Given the description of an element on the screen output the (x, y) to click on. 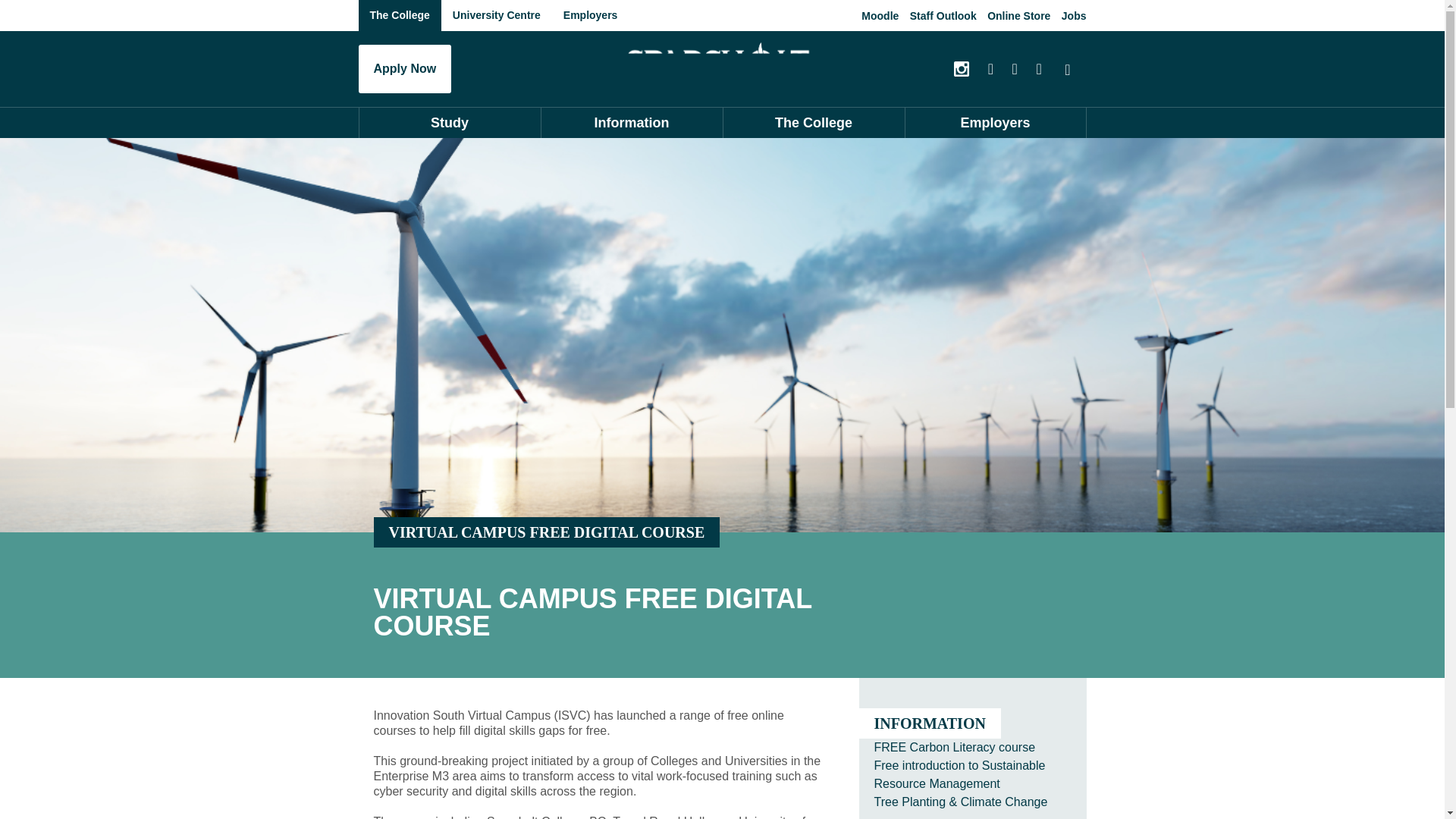
Moodle (879, 15)
Apply Now (404, 69)
Sparsholt College Hampshire (721, 65)
Sparsholt College Logo (721, 65)
The College (399, 15)
University Centre (496, 15)
Online Store (1018, 15)
Staff Outlook (943, 15)
Employers (589, 15)
Jobs (1073, 15)
